Given the description of an element on the screen output the (x, y) to click on. 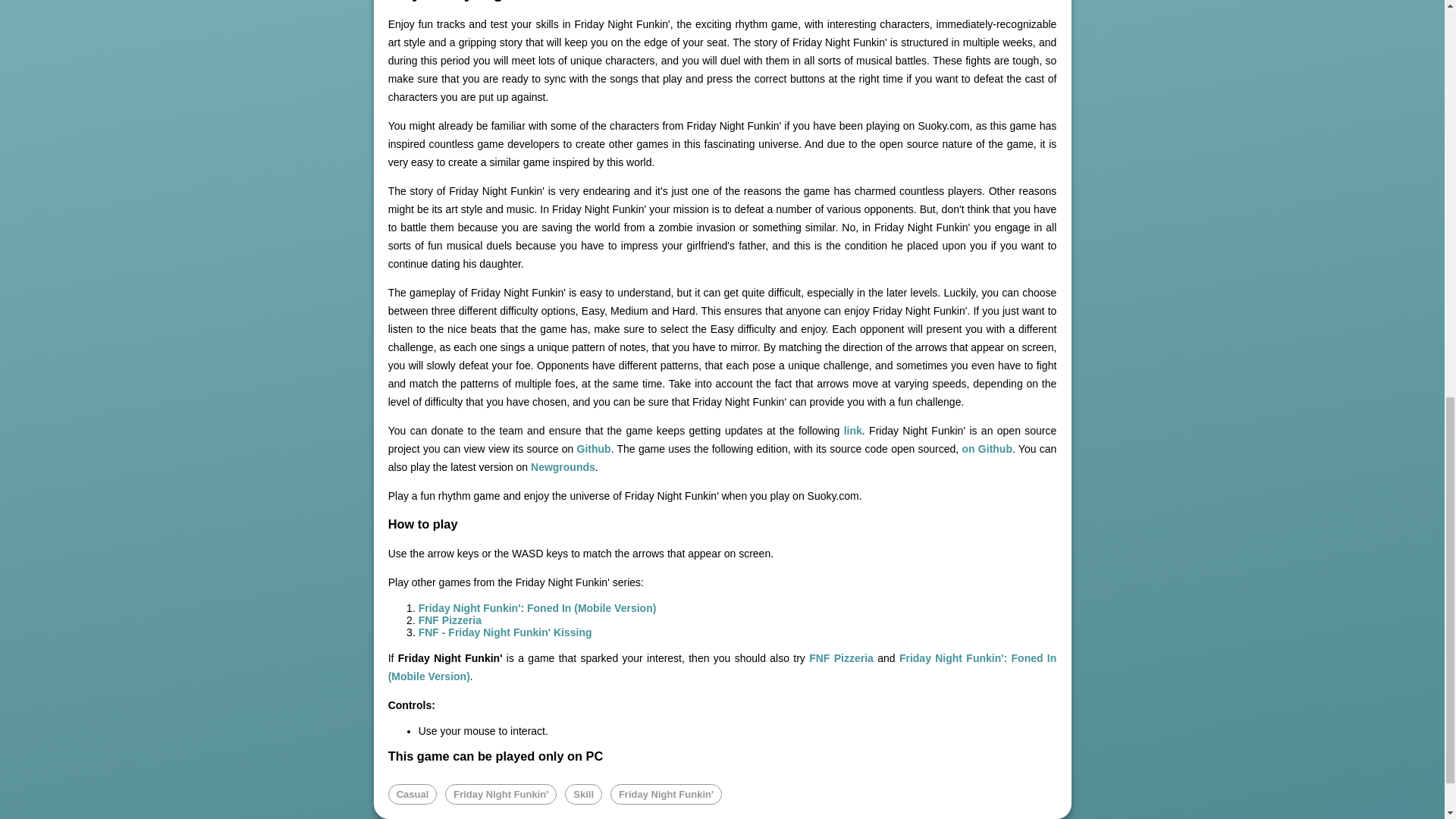
FNF - Friday Night Funkin' Kissing (505, 632)
Casual (413, 793)
FNF Pizzeria (450, 620)
FNF Pizzeria (841, 657)
link (852, 430)
Newgrounds (563, 467)
on Github (985, 449)
Github (593, 449)
